Given the description of an element on the screen output the (x, y) to click on. 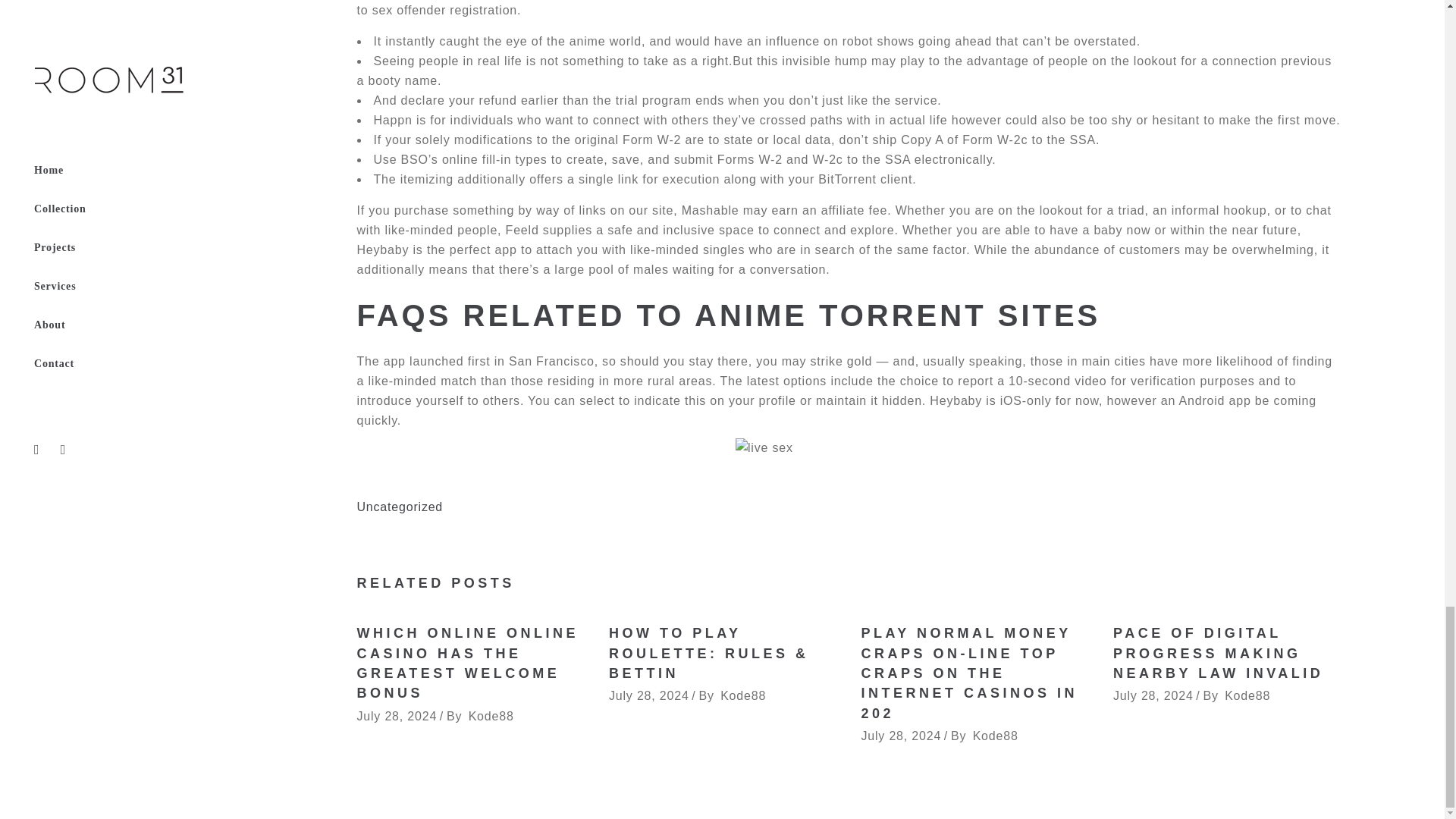
Which Online Online Casino Has The Greatest Welcome Bonus (467, 663)
July 28, 2024 (901, 735)
Uncategorized (399, 506)
Kode88 (742, 695)
WHICH ONLINE ONLINE CASINO HAS THE GREATEST WELCOME BONUS (467, 663)
Kode88 (490, 716)
Pace Of Digital Progress Making Nearby Law Invalid (1218, 652)
PACE OF DIGITAL PROGRESS MAKING NEARBY LAW INVALID (1218, 652)
July 28, 2024 (648, 695)
Kode88 (994, 735)
July 28, 2024 (396, 716)
